Given the description of an element on the screen output the (x, y) to click on. 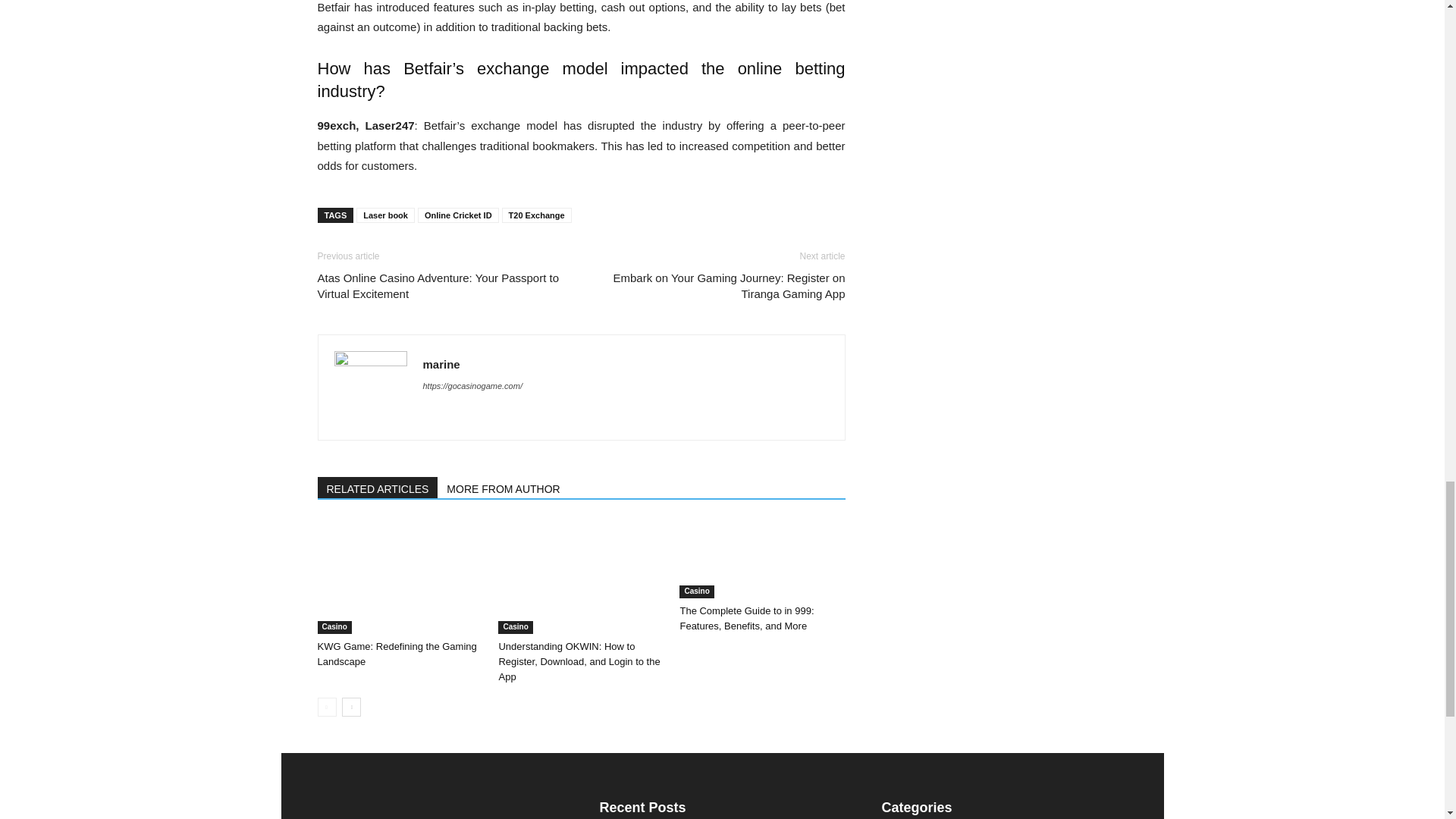
marine (441, 364)
KWG Game: Redefining the Gaming Landscape (396, 653)
The Complete Guide to in 999: Features, Benefits, and More (761, 559)
Online Cricket ID (458, 215)
KWG Game: Redefining the Gaming Landscape (399, 576)
T20 Exchange (537, 215)
Laser book (385, 215)
